Given the description of an element on the screen output the (x, y) to click on. 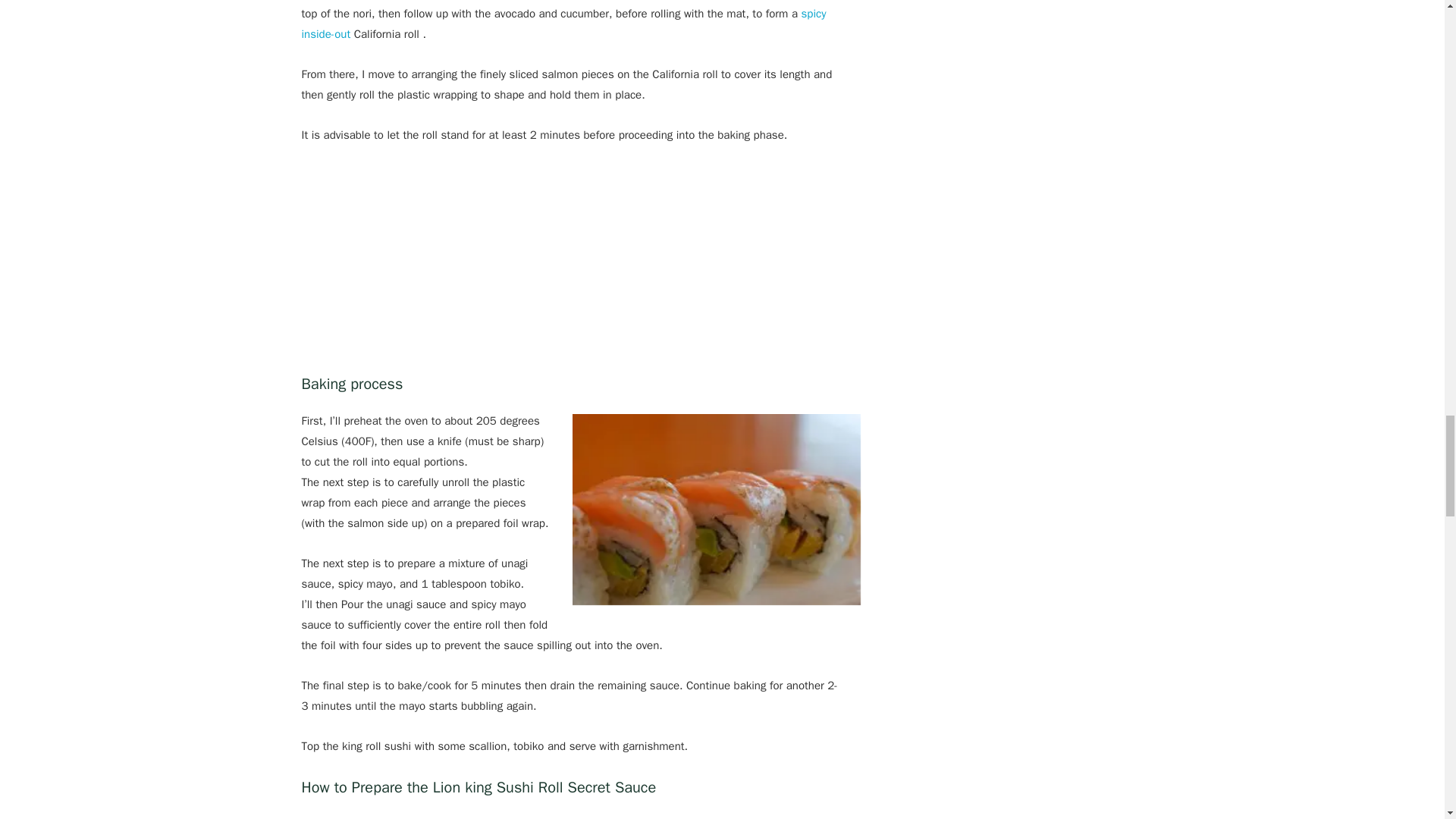
fish rolls, stuffed fish rolls (716, 509)
